Given the description of an element on the screen output the (x, y) to click on. 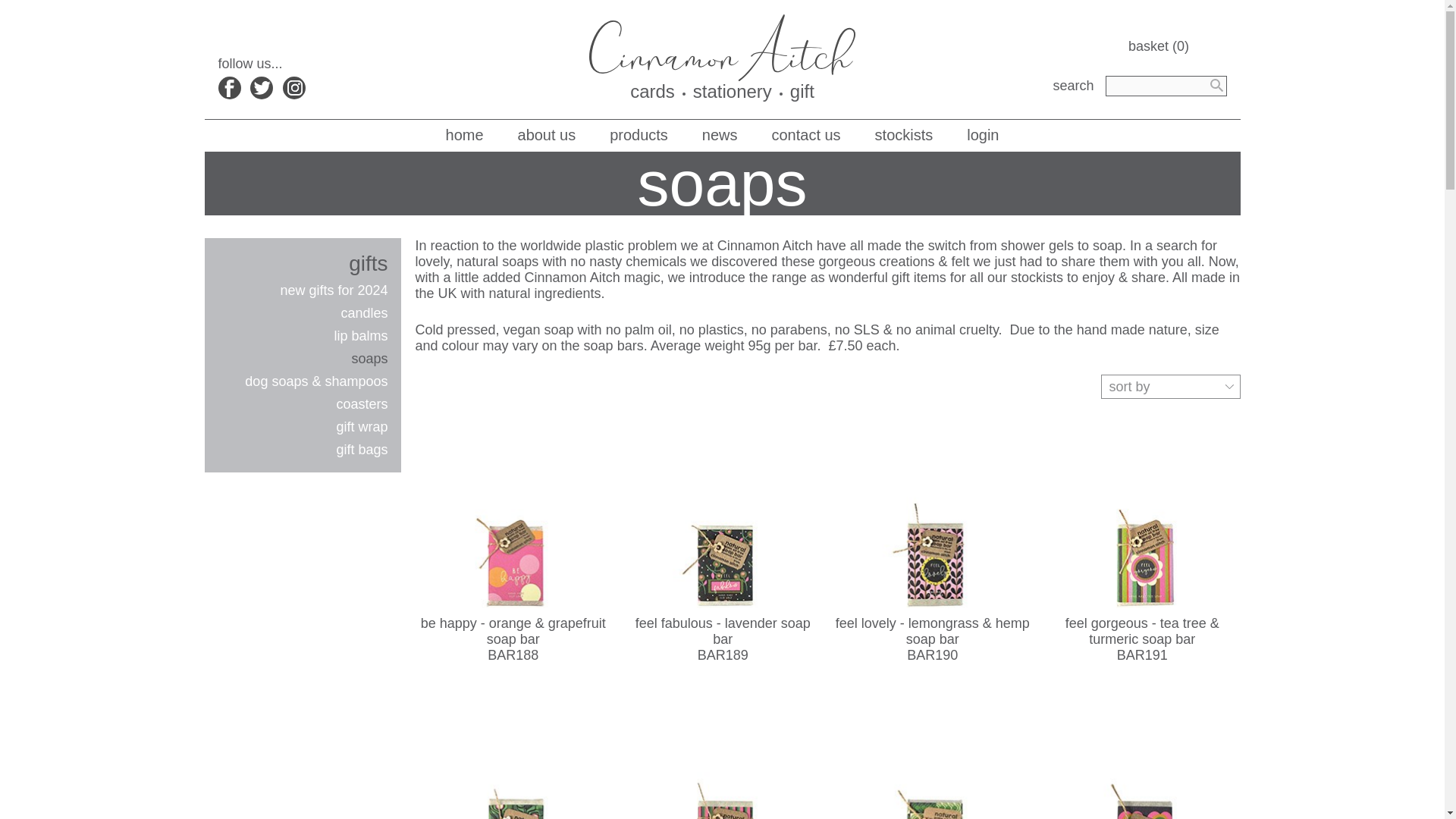
large flower - rose geranium soap bar (1141, 753)
login (982, 135)
Twitter (261, 87)
products (639, 135)
home (464, 135)
cardsstationerygift (722, 58)
about us (547, 135)
news (719, 135)
View Basket (1177, 46)
Facebook (229, 87)
Instagram (293, 87)
stockists (904, 135)
contact us (806, 135)
